Given the description of an element on the screen output the (x, y) to click on. 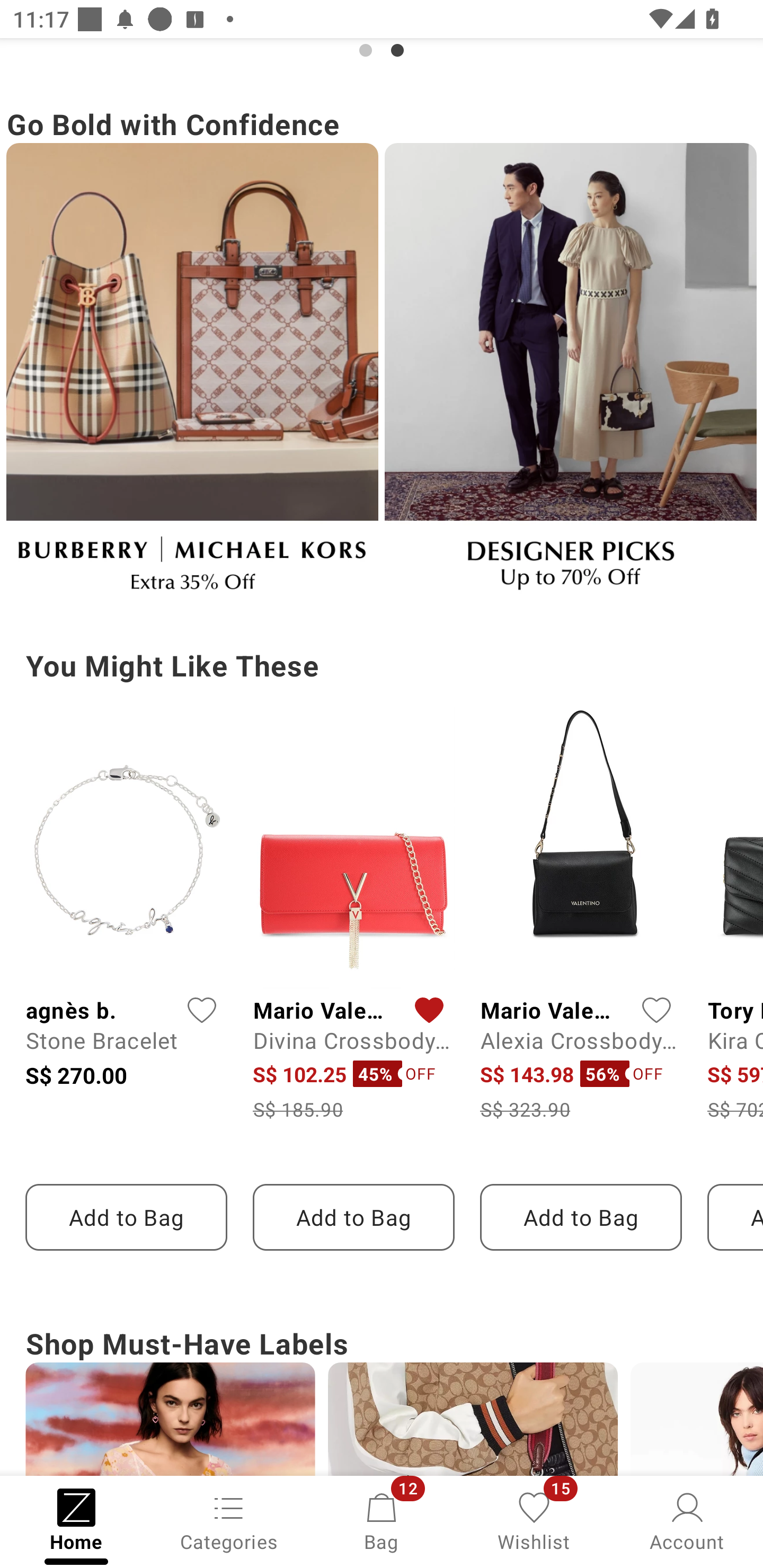
Campaign banner (192, 375)
Campaign banner (570, 375)
Add to Bag (126, 1217)
Add to Bag (353, 1217)
Add to Bag (580, 1217)
Categories (228, 1519)
Bag, 12 new notifications Bag (381, 1519)
Wishlist, 15 new notifications Wishlist (533, 1519)
Account (686, 1519)
